Given the description of an element on the screen output the (x, y) to click on. 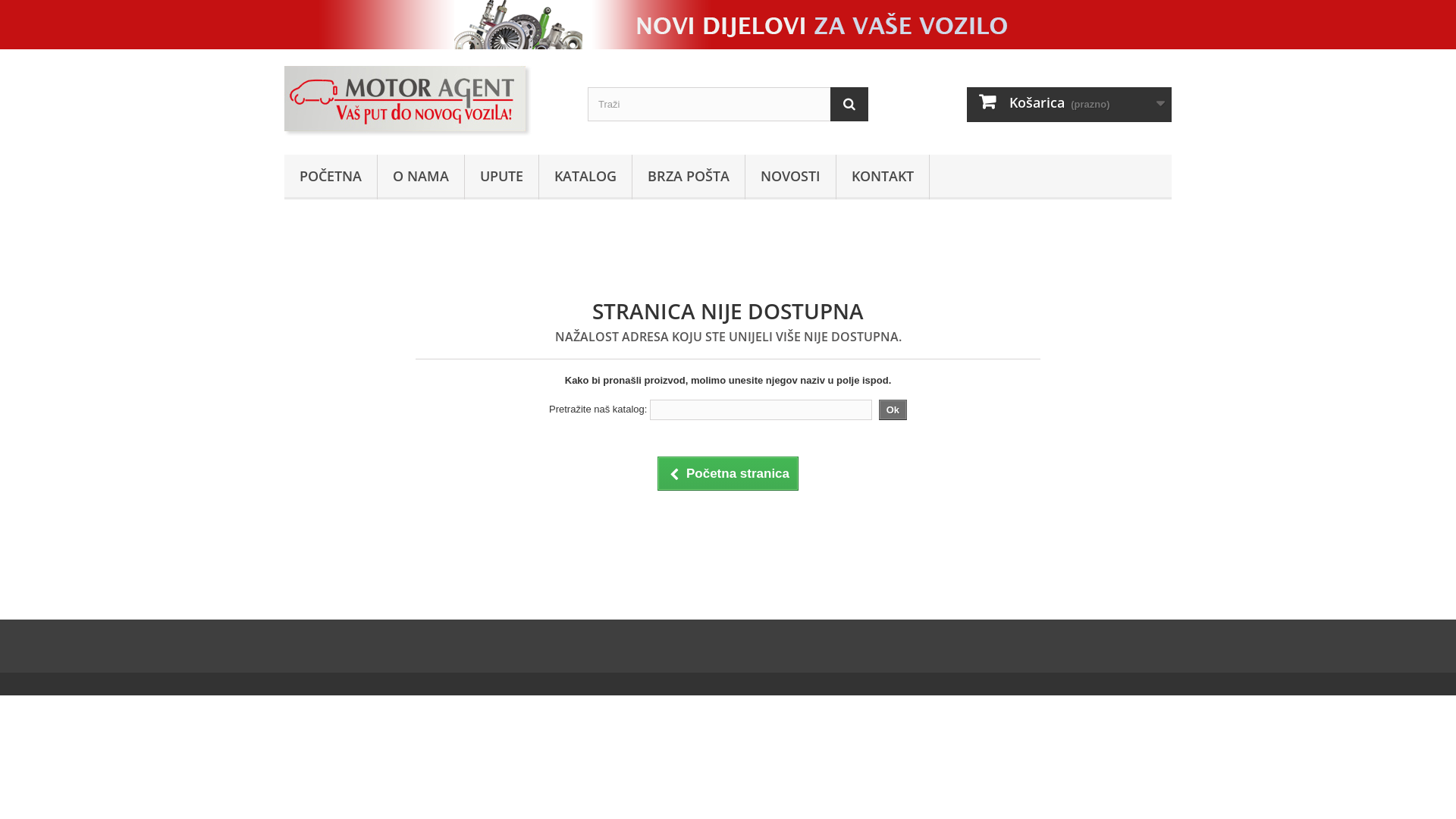
Motor agent d.o.o. Element type: hover (424, 97)
Ok Element type: text (892, 409)
KONTAKT Element type: text (882, 176)
O NAMA Element type: text (420, 176)
KATALOG Element type: text (585, 176)
NOVOSTI Element type: text (790, 176)
UPUTE Element type: text (501, 176)
